Given the description of an element on the screen output the (x, y) to click on. 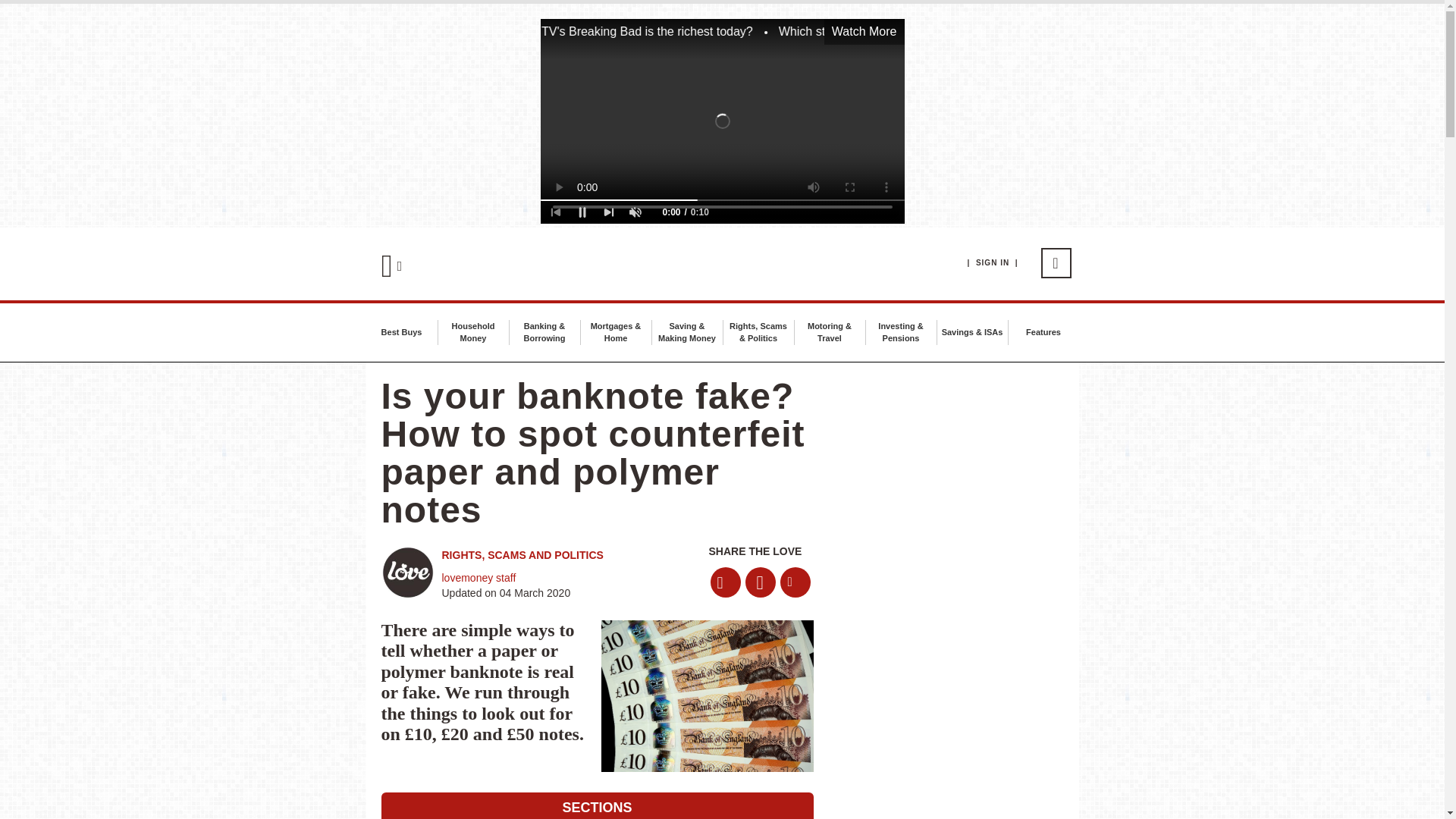
Best Buys (401, 331)
Household Money (472, 331)
lovemoney staff (478, 577)
RIGHTS, SCAMS AND POLITICS (521, 554)
Features (1043, 331)
